Given the description of an element on the screen output the (x, y) to click on. 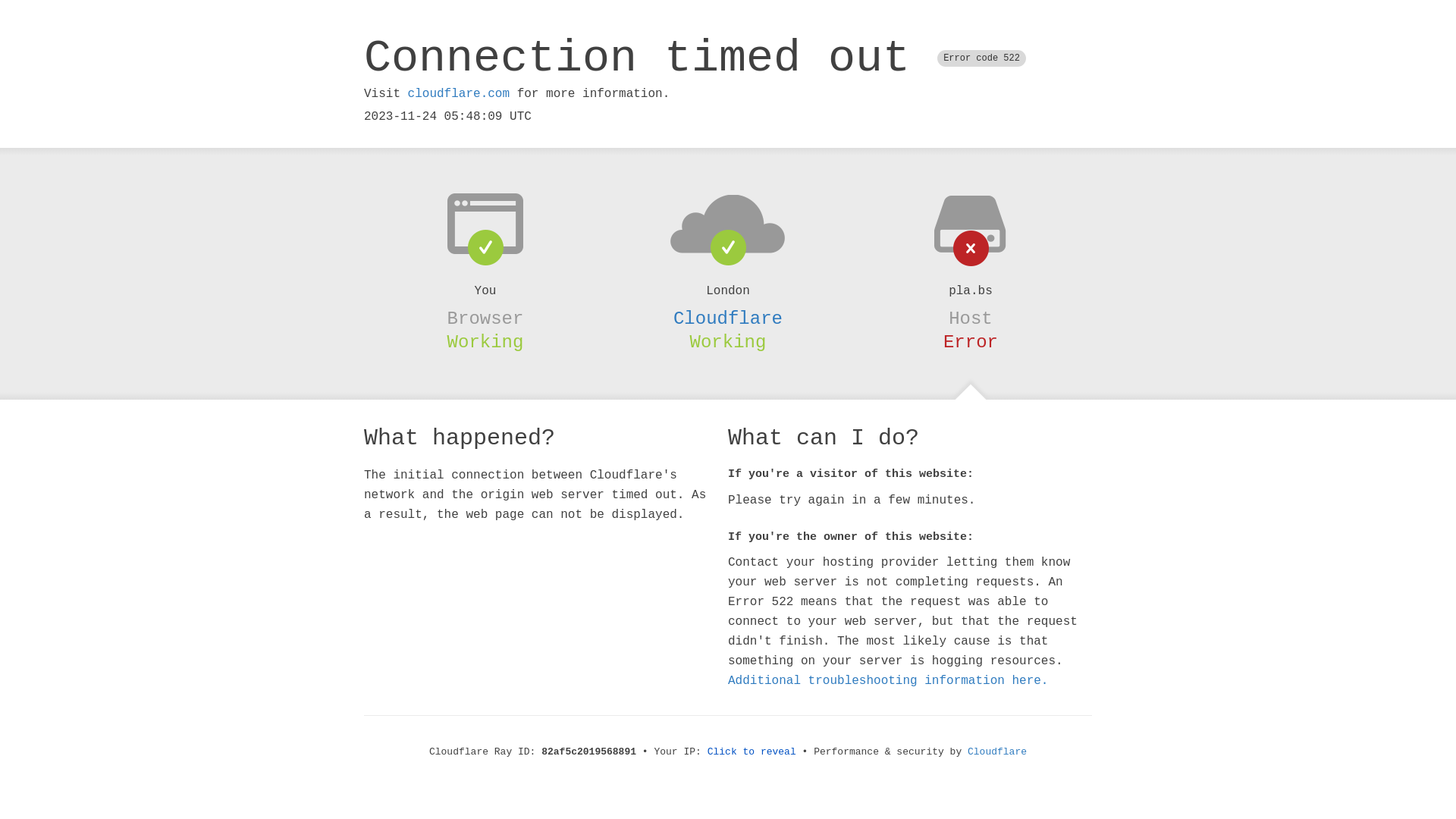
Click to reveal Element type: text (751, 751)
Cloudflare Element type: text (727, 318)
cloudflare.com Element type: text (458, 93)
Additional troubleshooting information here. Element type: text (888, 680)
Cloudflare Element type: text (996, 751)
